Given the description of an element on the screen output the (x, y) to click on. 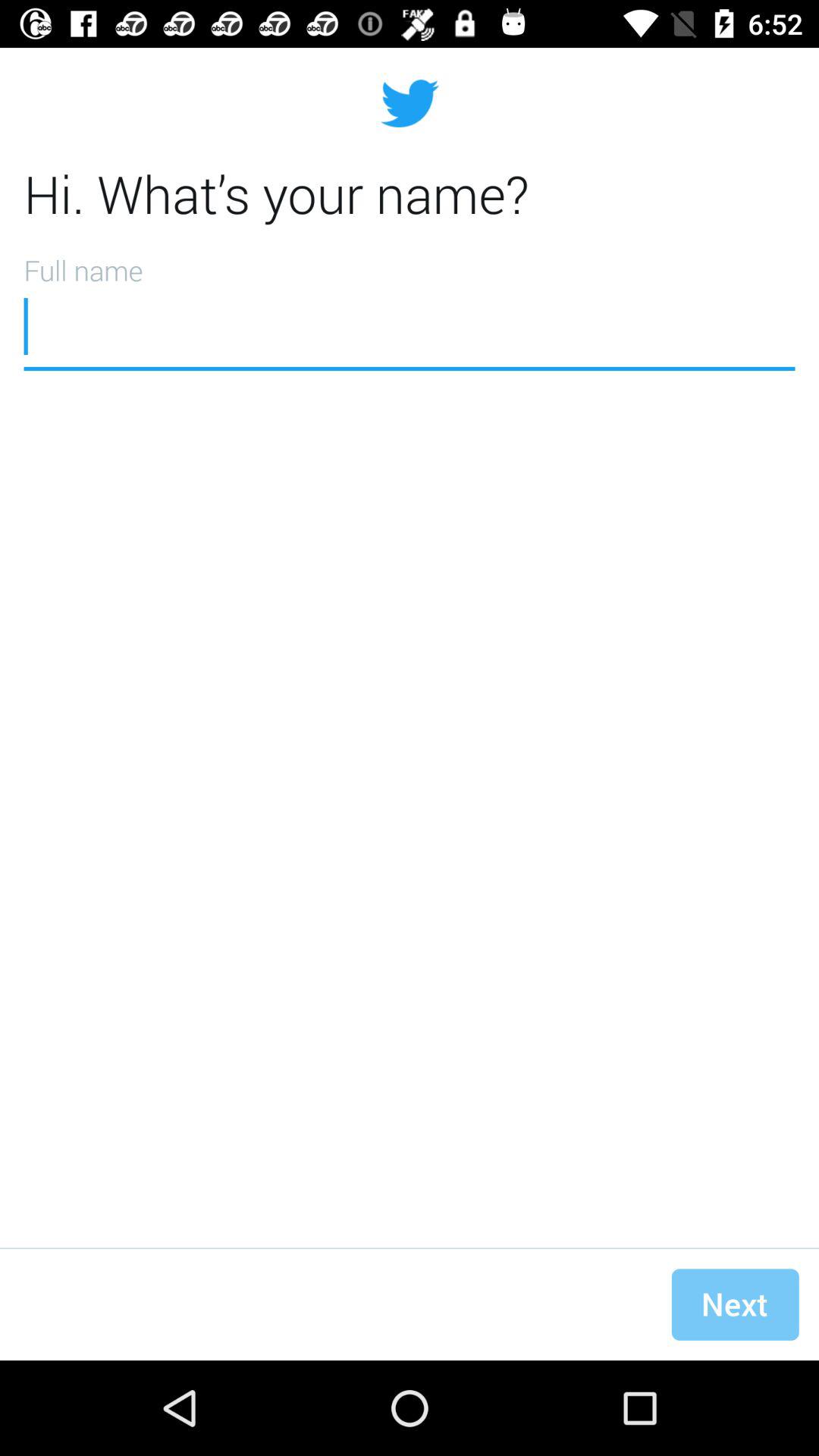
type your name (409, 307)
